Given the description of an element on the screen output the (x, y) to click on. 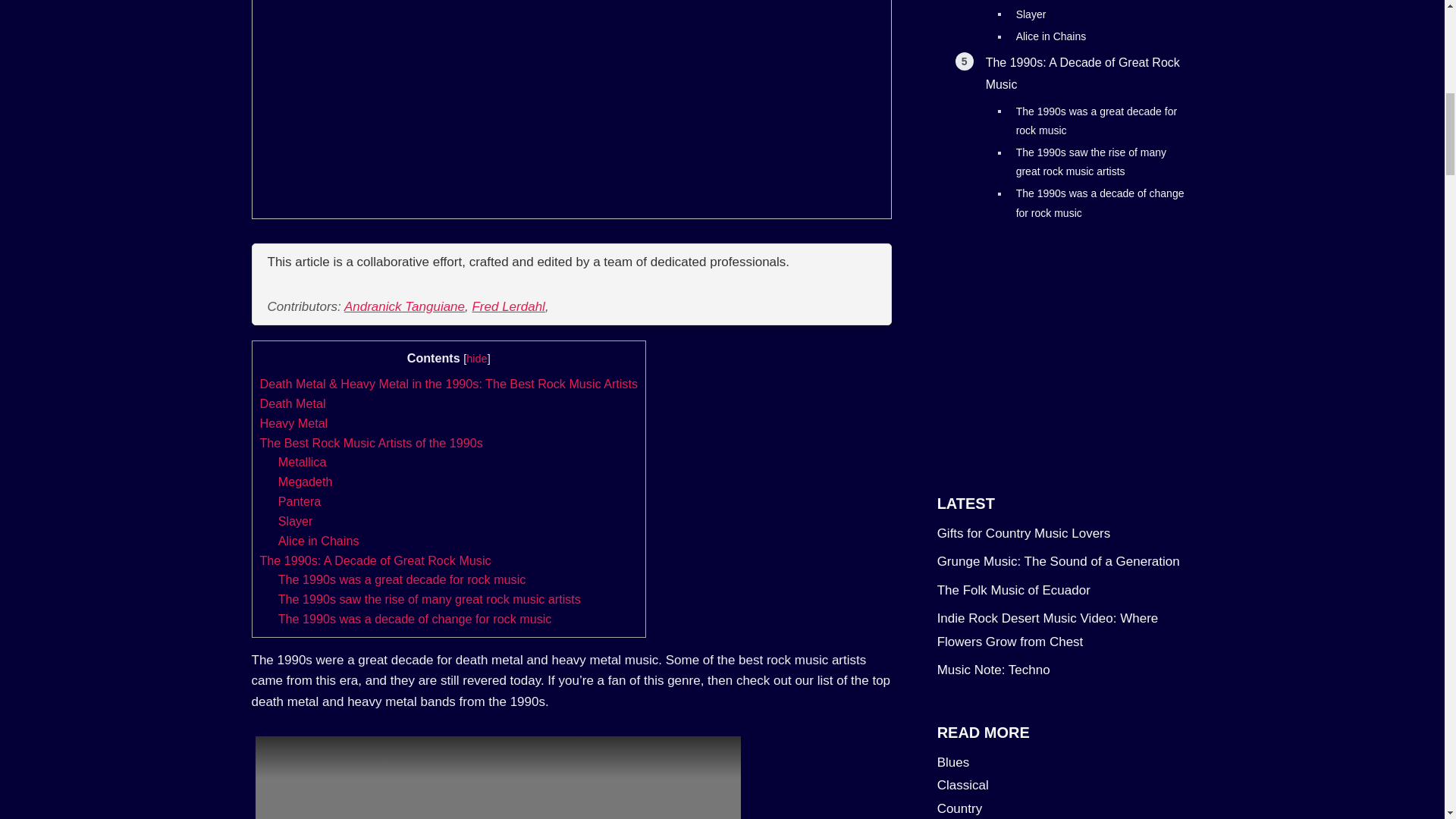
Heavy Metal (293, 422)
Megadeth (305, 481)
Pantera (299, 500)
Advertisement (1065, 346)
Andranick Tanguiane (403, 306)
Alice in Chains (318, 540)
hide (475, 358)
Death Metal (291, 403)
The 1990s was a decade of change for rock music (414, 618)
Slayer (295, 520)
